Given the description of an element on the screen output the (x, y) to click on. 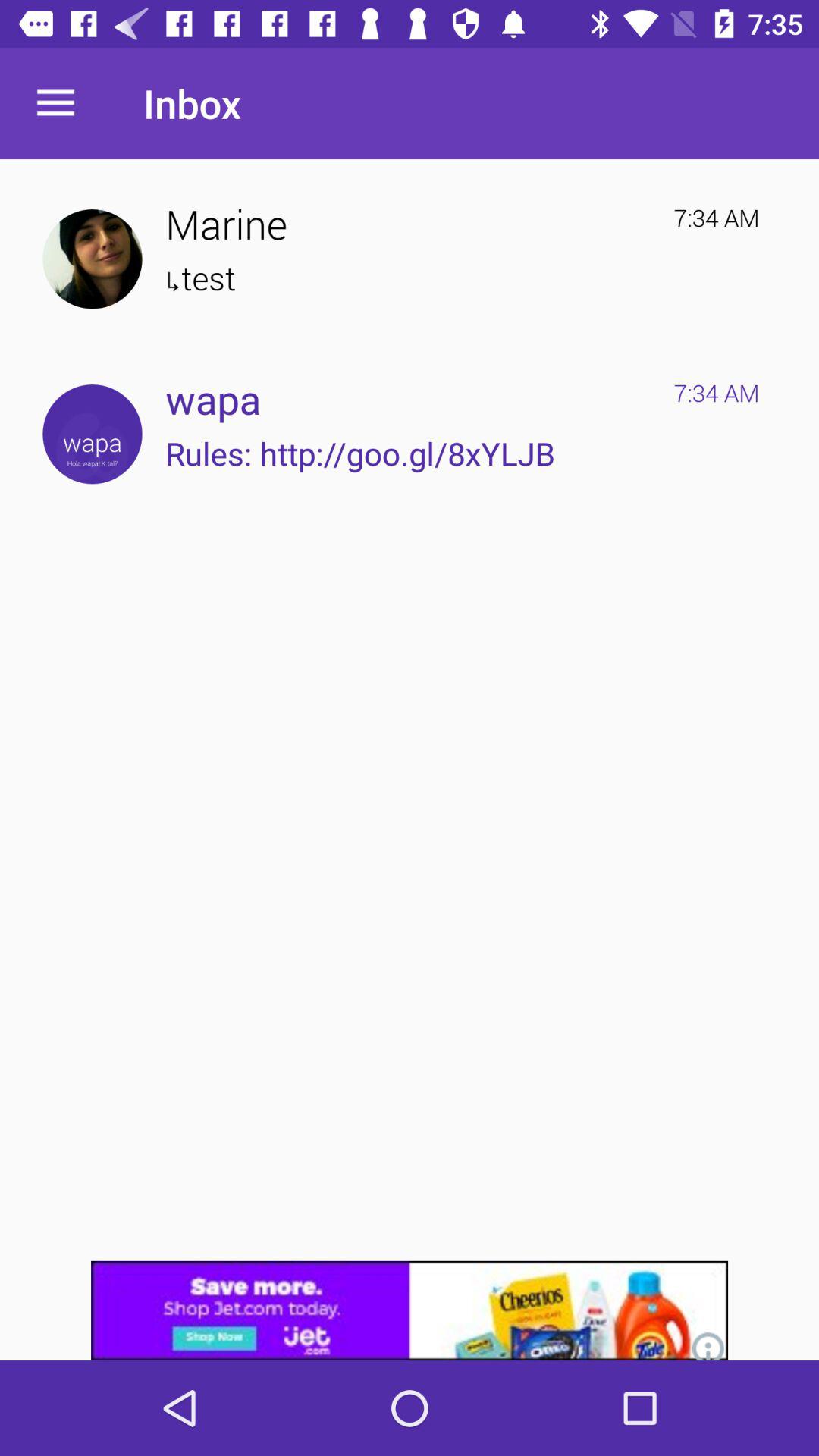
wapa text area (92, 434)
